Given the description of an element on the screen output the (x, y) to click on. 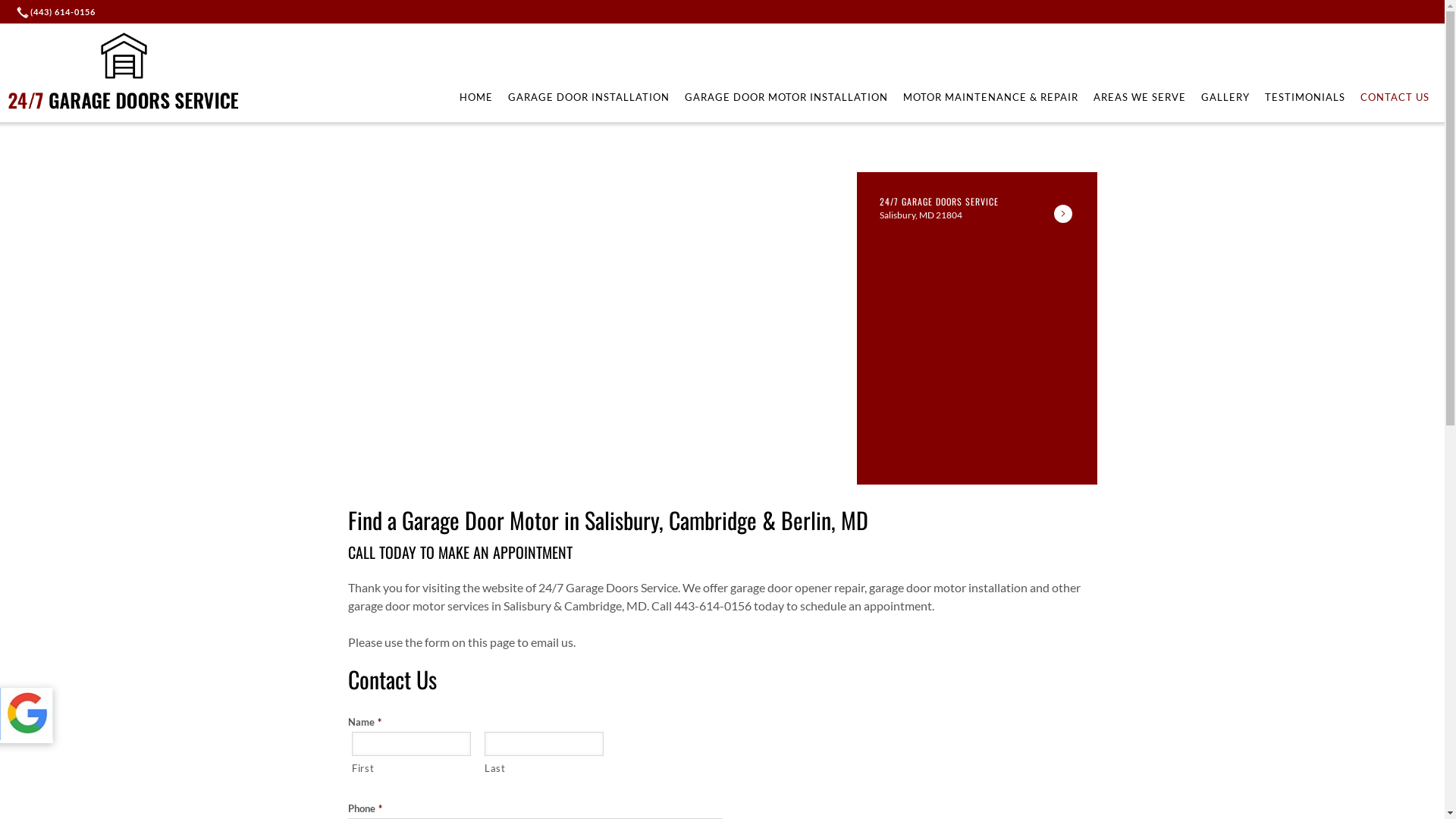
TESTIMONIALS Element type: text (1304, 96)
AREAS WE SERVE Element type: text (1139, 96)
See Details Element type: hover (1063, 213)
(443) 614-0156 Element type: hover (57, 11)
GALLERY Element type: text (1225, 96)
MOTOR MAINTENANCE & REPAIR Element type: text (990, 96)
GARAGE DOOR MOTOR INSTALLATION Element type: text (786, 96)
CONTACT US Element type: text (1394, 96)
HOME Element type: text (475, 96)
GARAGE DOOR INSTALLATION Element type: text (588, 96)
